Given the description of an element on the screen output the (x, y) to click on. 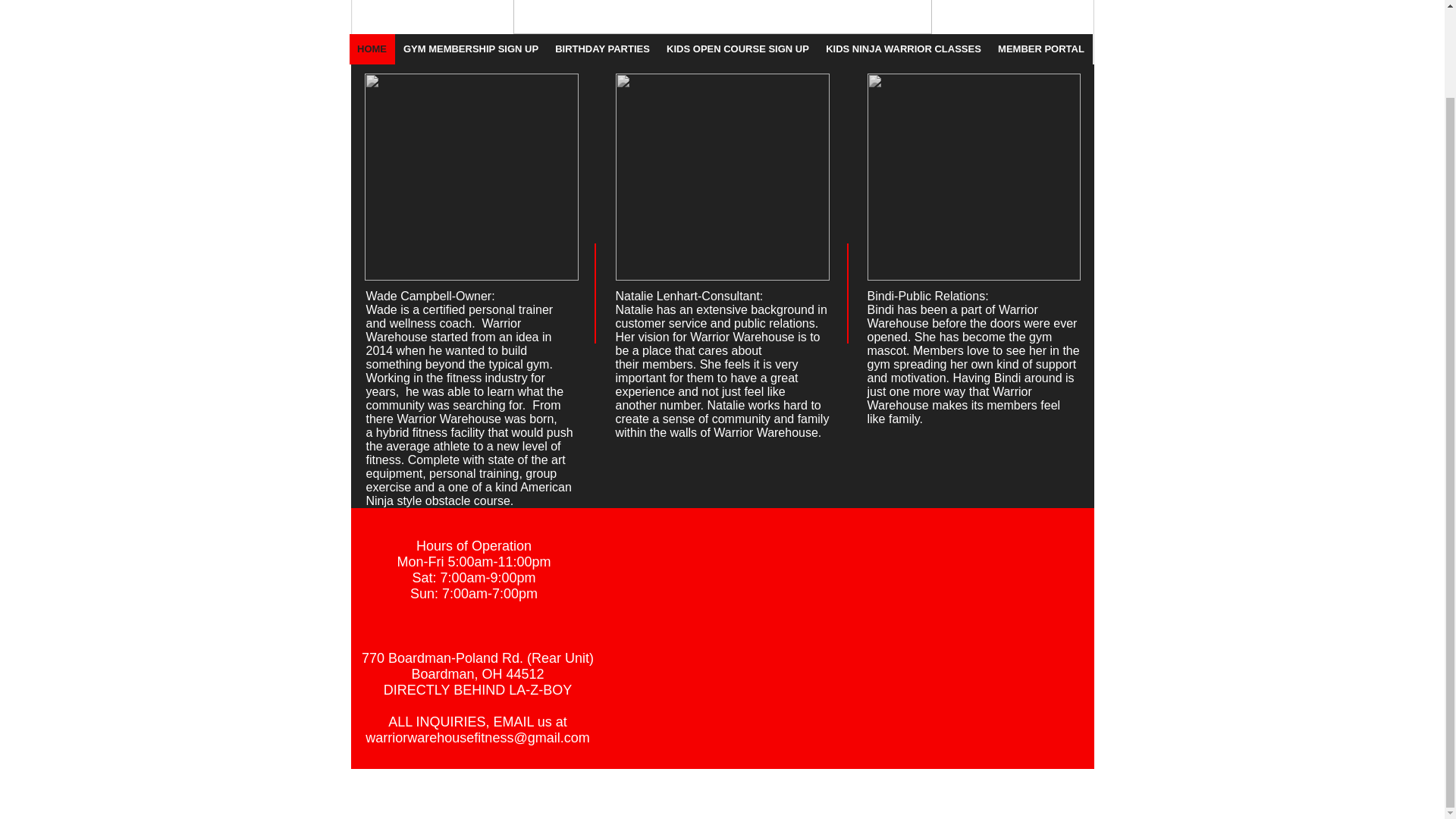
BIRTHDAY PARTIES (602, 49)
HOME (371, 49)
KIDS NINJA WARRIOR CLASSES (903, 49)
GYM MEMBERSHIP SIGN UP (470, 49)
MEMBER PORTAL (1040, 49)
KIDS OPEN COURSE SIGN UP (737, 49)
